Given the description of an element on the screen output the (x, y) to click on. 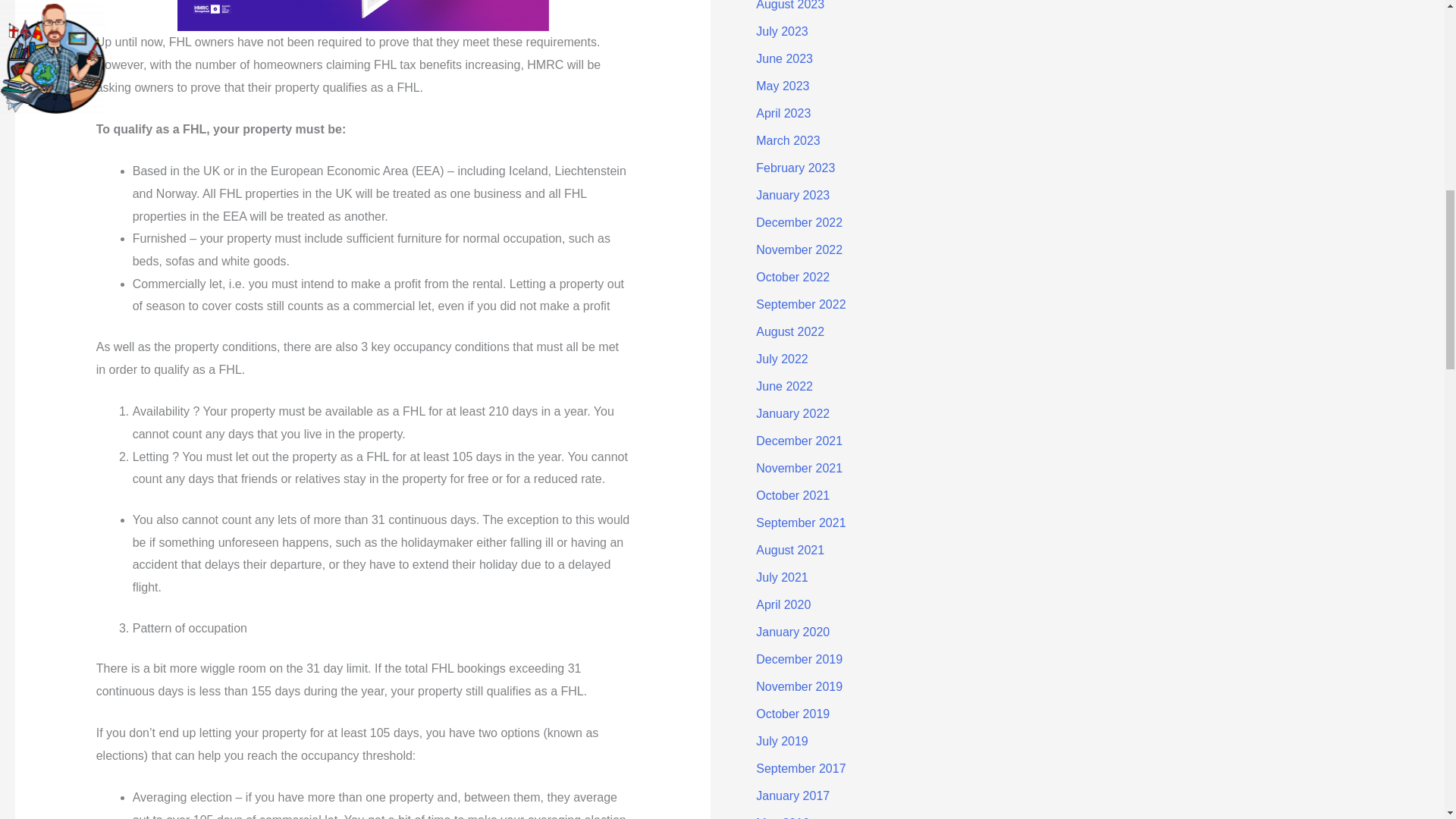
April 2023 (782, 113)
July 2023 (781, 31)
February 2023 (794, 167)
June 2023 (783, 58)
May 2023 (782, 85)
March 2023 (788, 140)
August 2023 (789, 5)
